Given the description of an element on the screen output the (x, y) to click on. 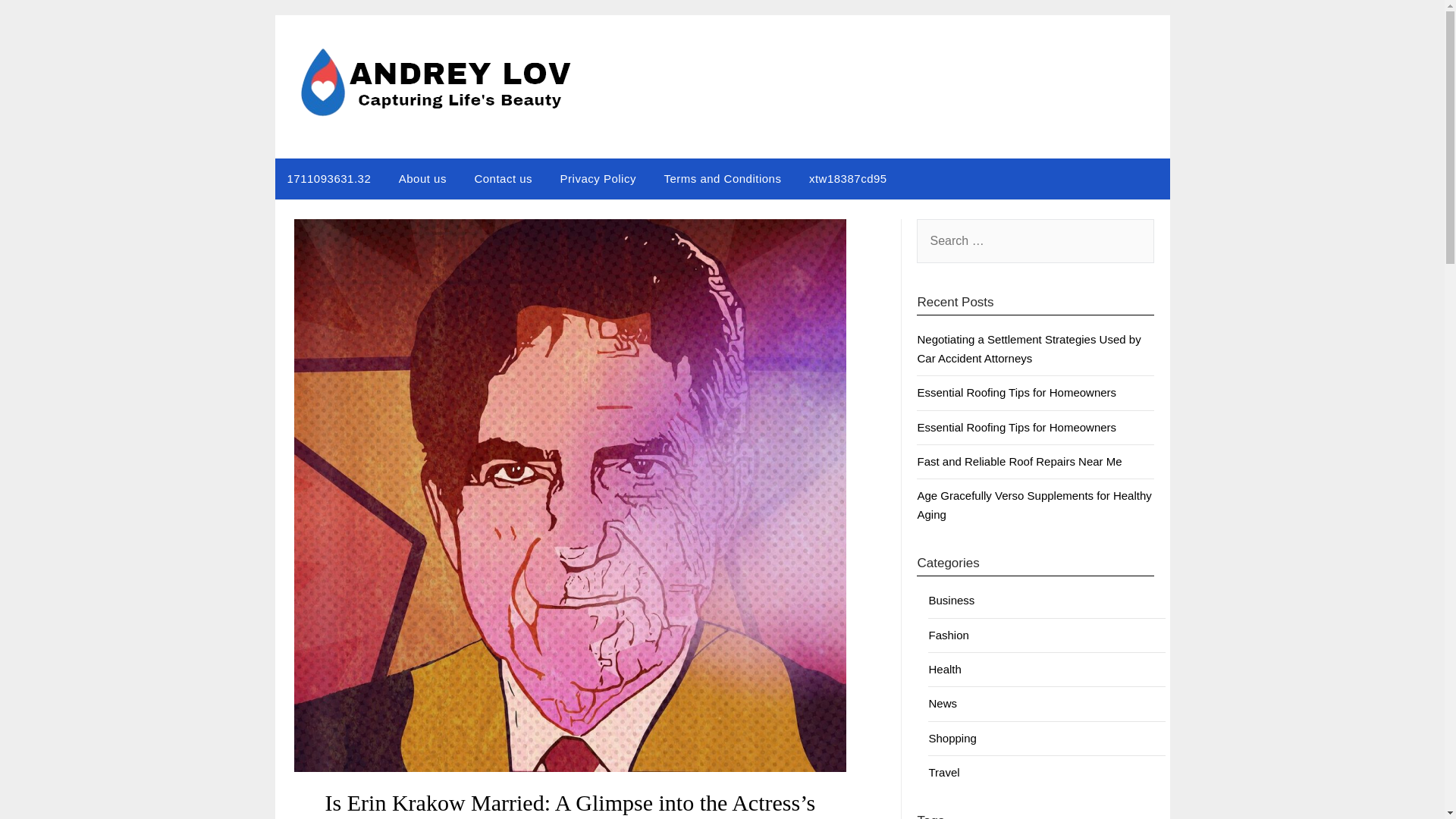
Search (38, 22)
About us (422, 178)
News (942, 703)
Shopping (951, 738)
Fast and Reliable Roof Repairs Near Me (1019, 461)
Travel (943, 771)
Business (951, 599)
1711093631.32 (328, 178)
Privacy Policy (597, 178)
Health (944, 668)
Essential Roofing Tips for Homeowners (1016, 427)
Age Gracefully Verso Supplements for Healthy Aging (1034, 504)
Contact us (502, 178)
Fashion (948, 634)
xtw18387cd95 (847, 178)
